Given the description of an element on the screen output the (x, y) to click on. 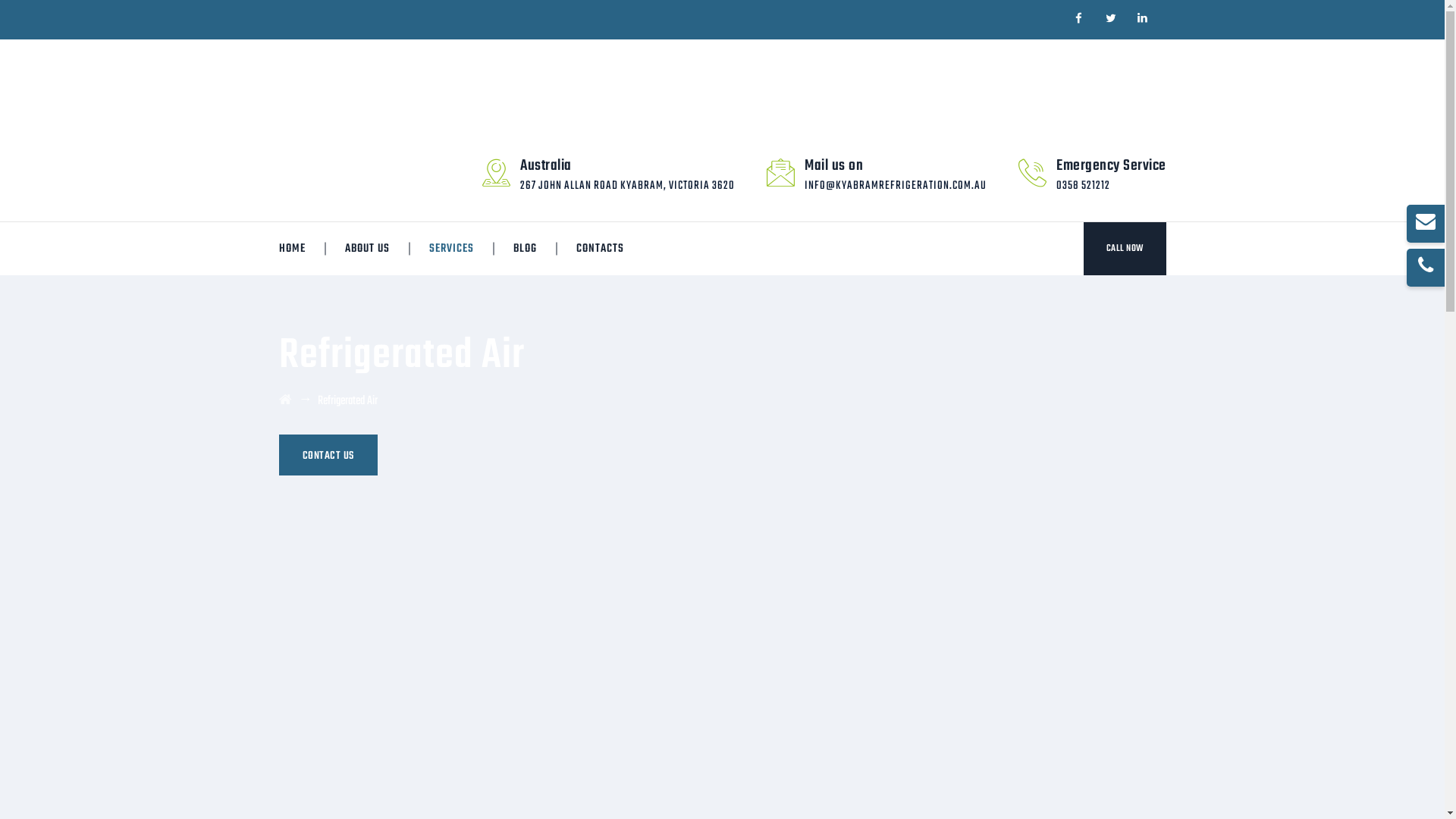
kyabramrefrigeration.com.au Element type: hover (392, 84)
0358 521212 Element type: text (1083, 185)
INFO@KYABRAMREFRIGERATION.COM.AU Element type: text (895, 185)
CALL NOW Element type: text (1123, 248)
CONTACT US Element type: text (328, 454)
BLOG Element type: text (524, 248)
SERVICES Element type: text (450, 248)
267 JOHN ALLAN ROAD KYABRAM, VICTORIA 3620 Element type: text (627, 185)
ABOUT US Element type: text (367, 248)
HOME Element type: text (291, 248)
Go to kyabramrefrigeration.com.au. Element type: hover (285, 401)
CONTACTS Element type: text (599, 248)
